Given the description of an element on the screen output the (x, y) to click on. 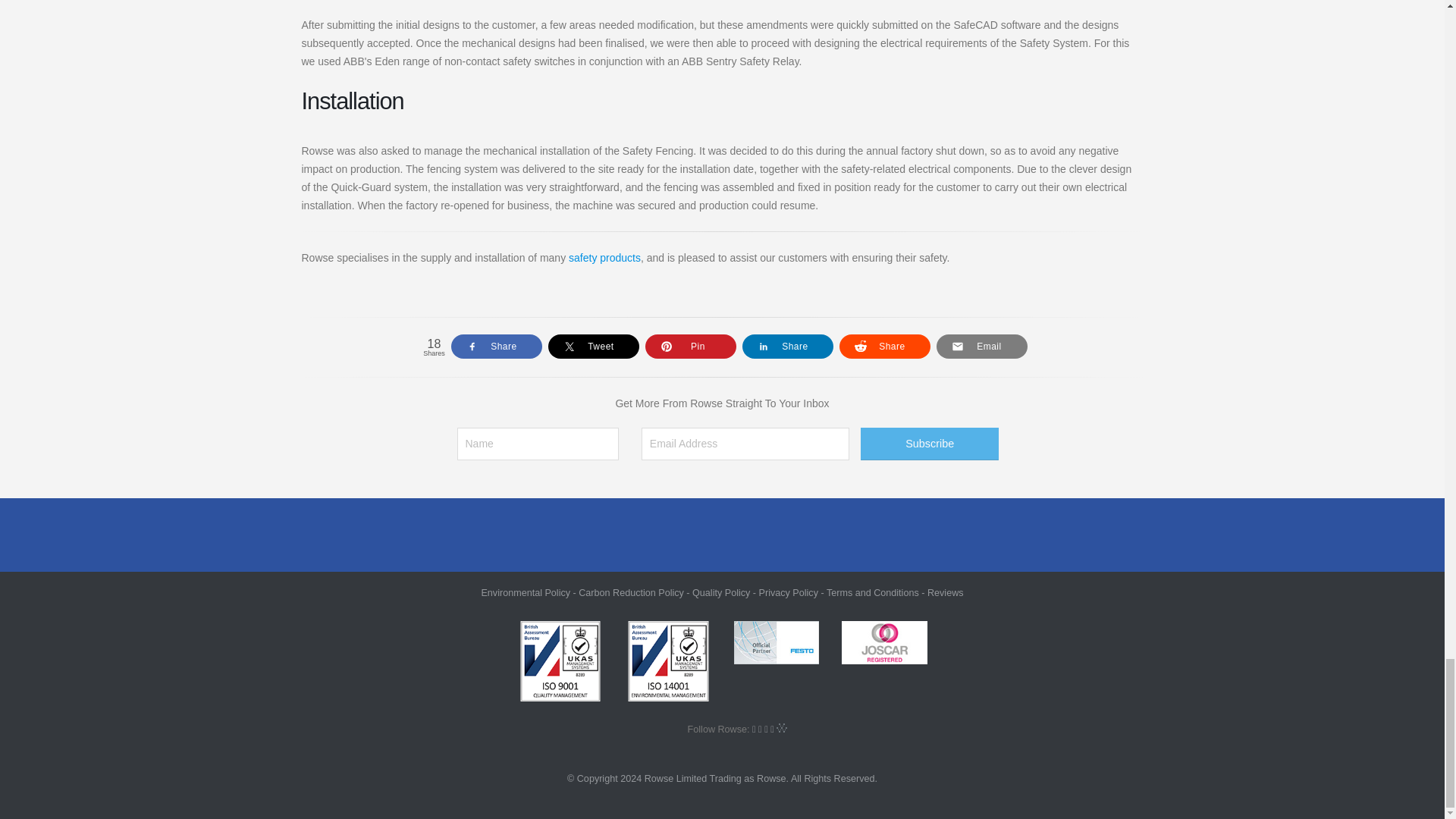
Terms and Conditions (872, 593)
Environmental Policy (525, 593)
Privacy Policy (788, 593)
Safety Products (604, 257)
Subscribe (929, 444)
Carbon Reduction Policy (631, 593)
Festo Partner (776, 641)
Rowse Reviews (945, 593)
Quality Policy (721, 593)
